Given the description of an element on the screen output the (x, y) to click on. 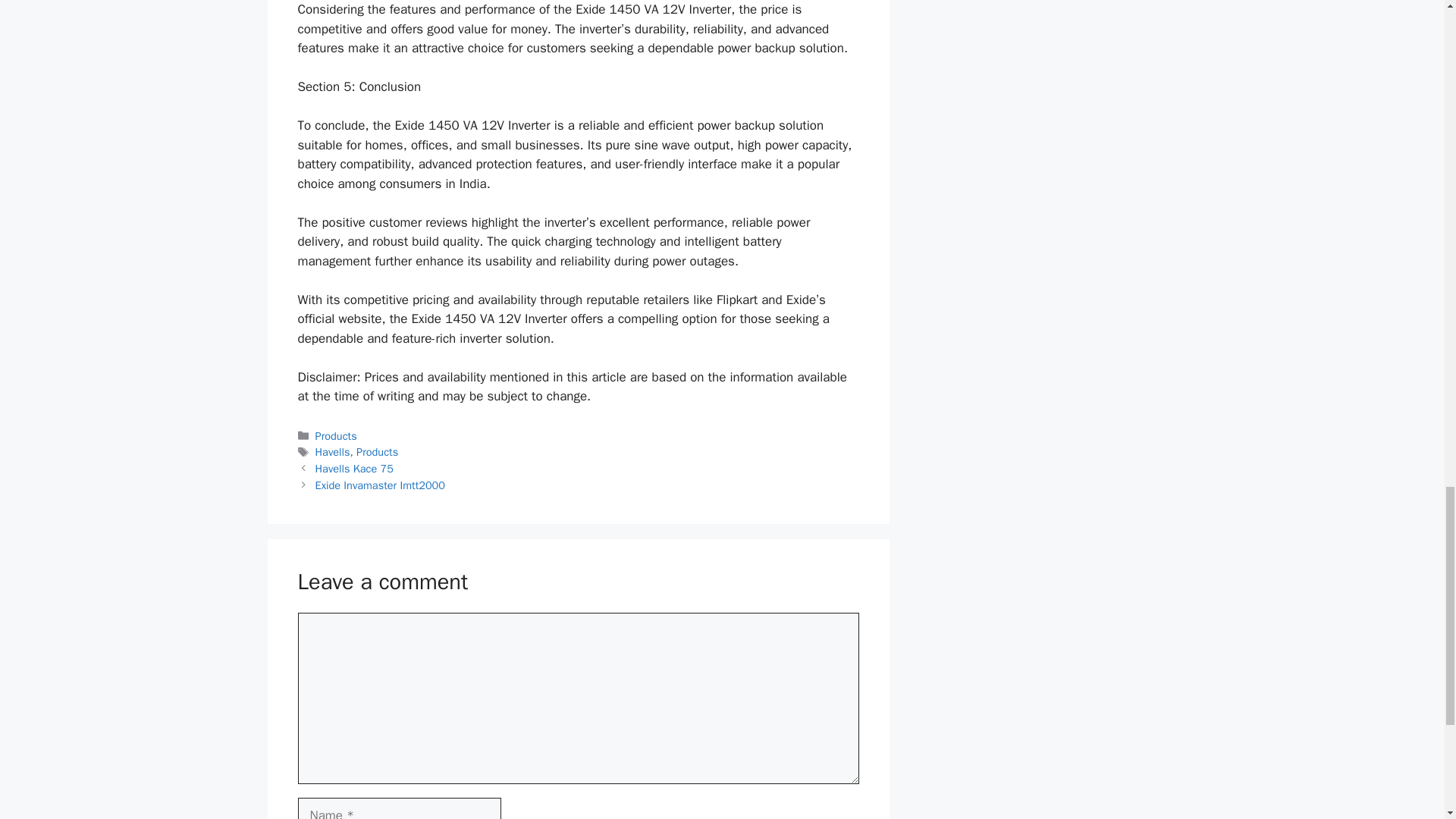
Products (335, 436)
Havells (332, 451)
Exide Invamaster Imtt2000 (380, 485)
Products (376, 451)
Havells Kace 75 (354, 468)
